Given the description of an element on the screen output the (x, y) to click on. 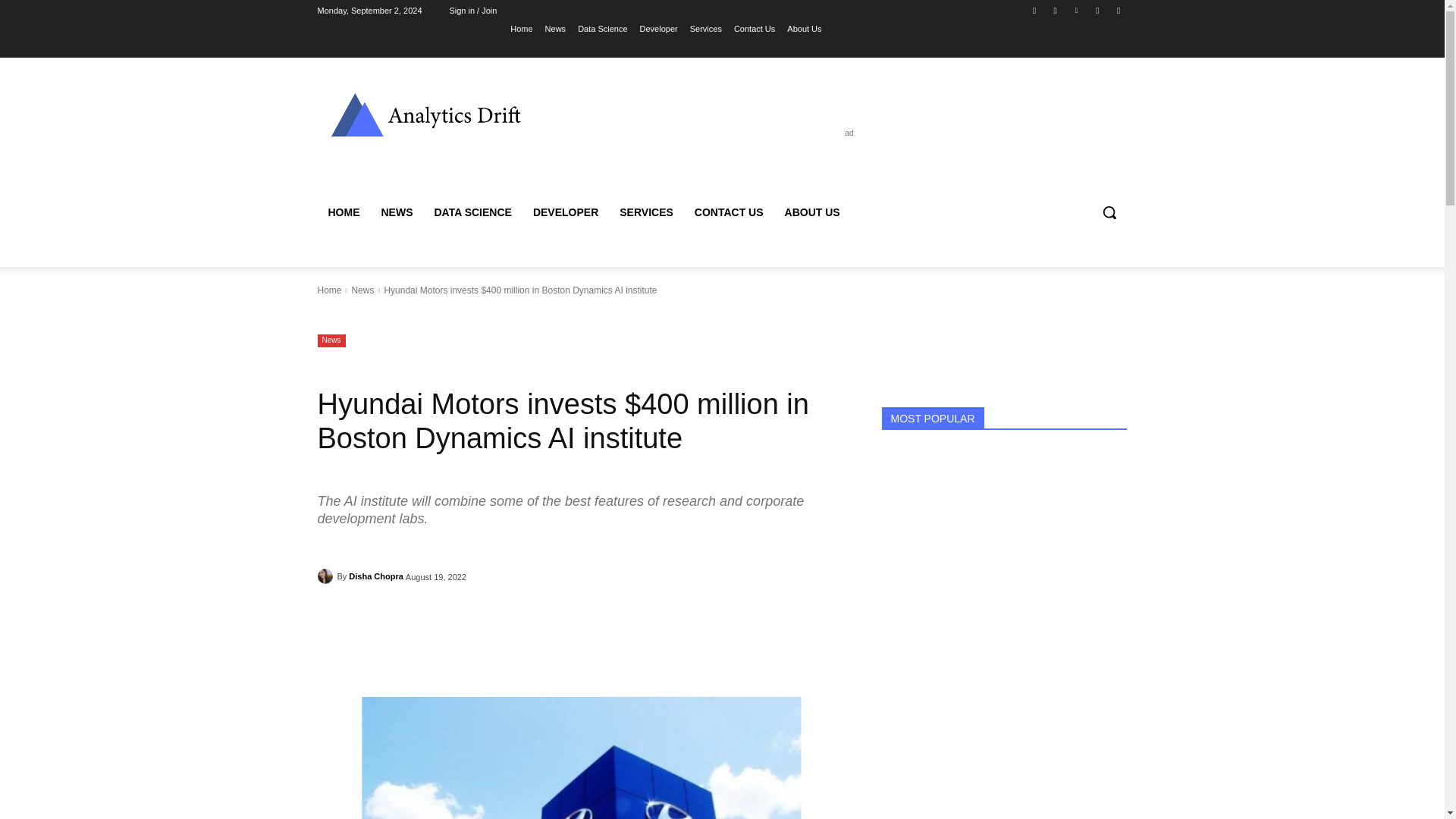
ABOUT US (812, 212)
Contact Us (753, 28)
Facebook (1034, 9)
Services (706, 28)
DATA SCIENCE (472, 212)
AI Portal (425, 114)
CONTACT US (729, 212)
News (555, 28)
Disha Chopra (326, 575)
Twitter (1117, 9)
